Given the description of an element on the screen output the (x, y) to click on. 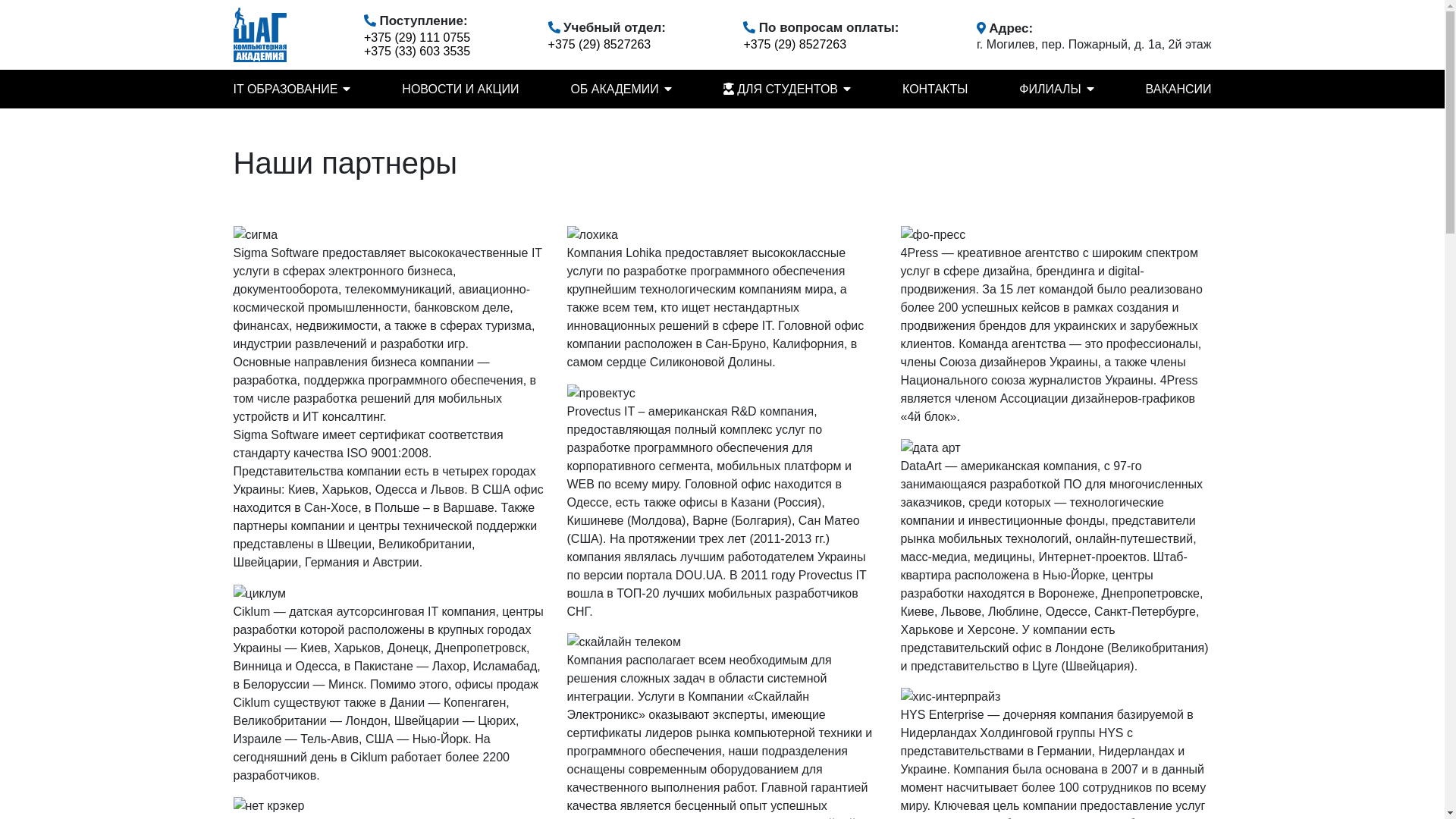
+375 (29) 111 0755 Element type: text (417, 37)
+375 (33) 603 3535 Element type: text (417, 51)
+375 (29) 8527263 Element type: text (794, 44)
+375 (29) 8527263 Element type: text (599, 44)
